Given the description of an element on the screen output the (x, y) to click on. 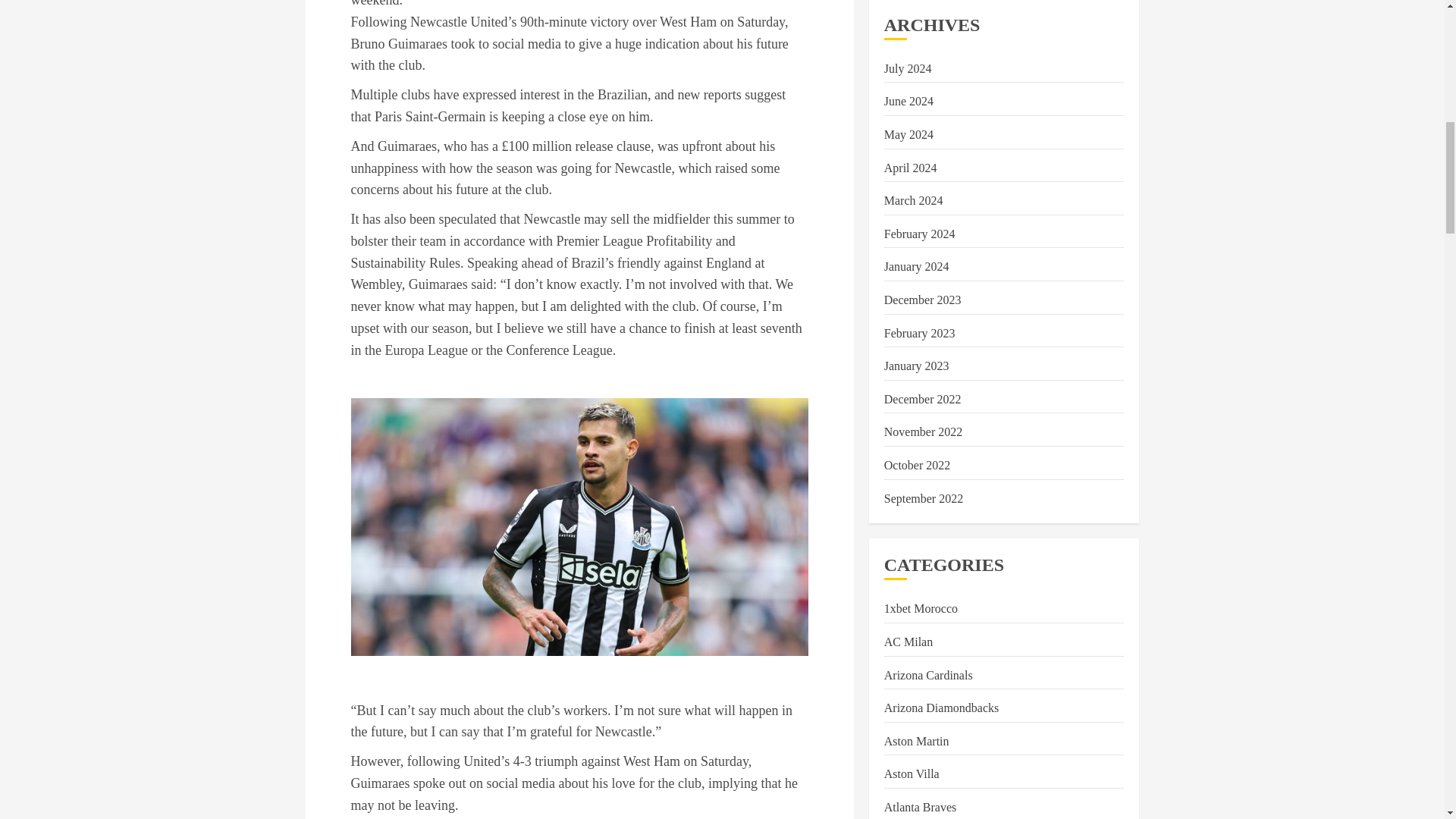
June 2024 (908, 101)
July 2024 (907, 69)
